Given the description of an element on the screen output the (x, y) to click on. 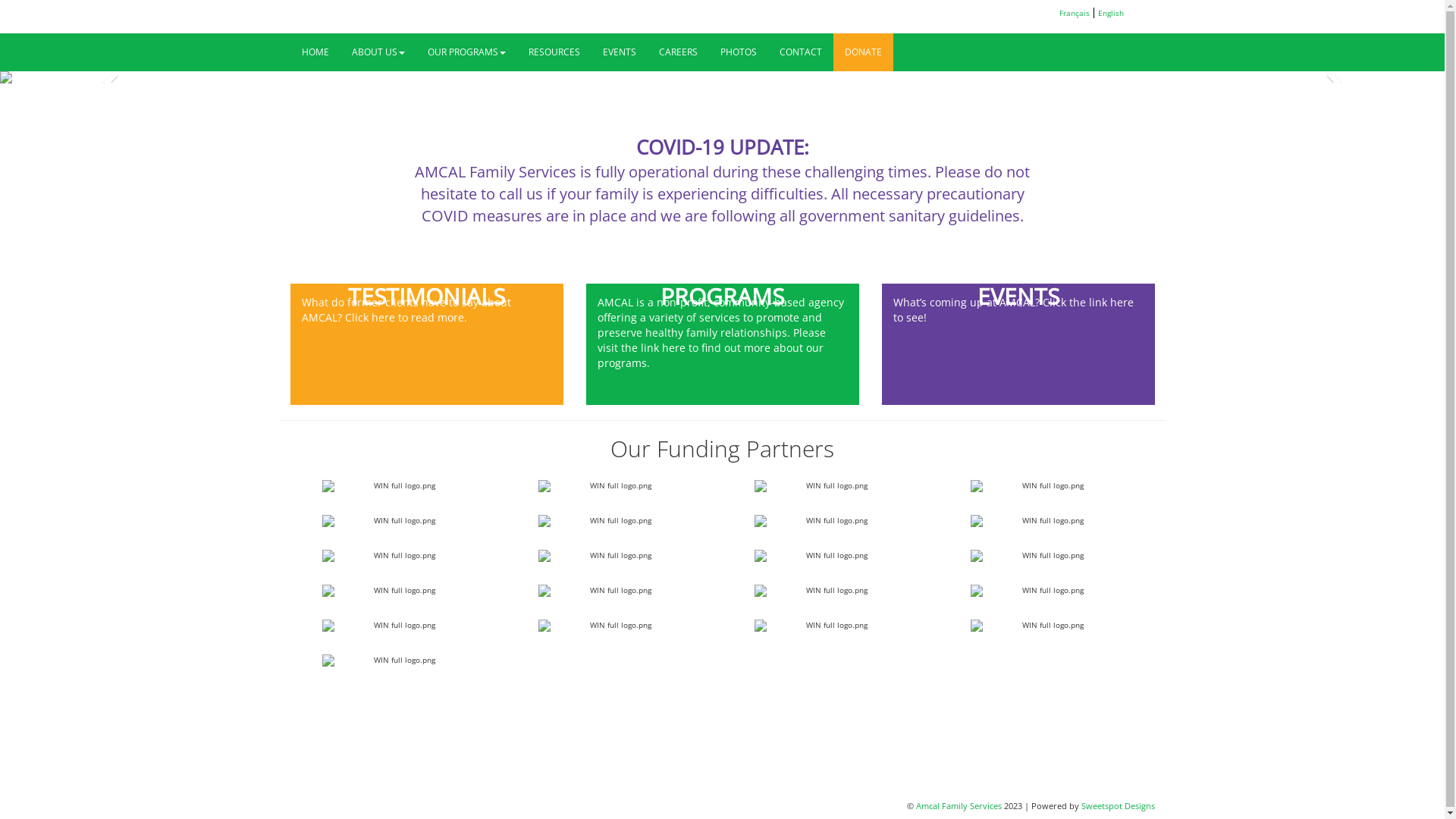
HOME Element type: text (314, 52)
ABOUT US Element type: text (377, 52)
CAREERS Element type: text (678, 52)
Sweetspot Designs Element type: text (1117, 805)
Previous Element type: text (108, 77)
RESOURCES Element type: text (554, 52)
English Element type: text (1110, 12)
PHOTOS Element type: text (737, 52)
OUR PROGRAMS Element type: text (465, 52)
Amcal Family Services Element type: text (958, 805)
DONATE Element type: text (862, 52)
CONTACT Element type: text (799, 52)
Next Element type: text (1335, 77)
EVENTS Element type: text (619, 52)
